Given the description of an element on the screen output the (x, y) to click on. 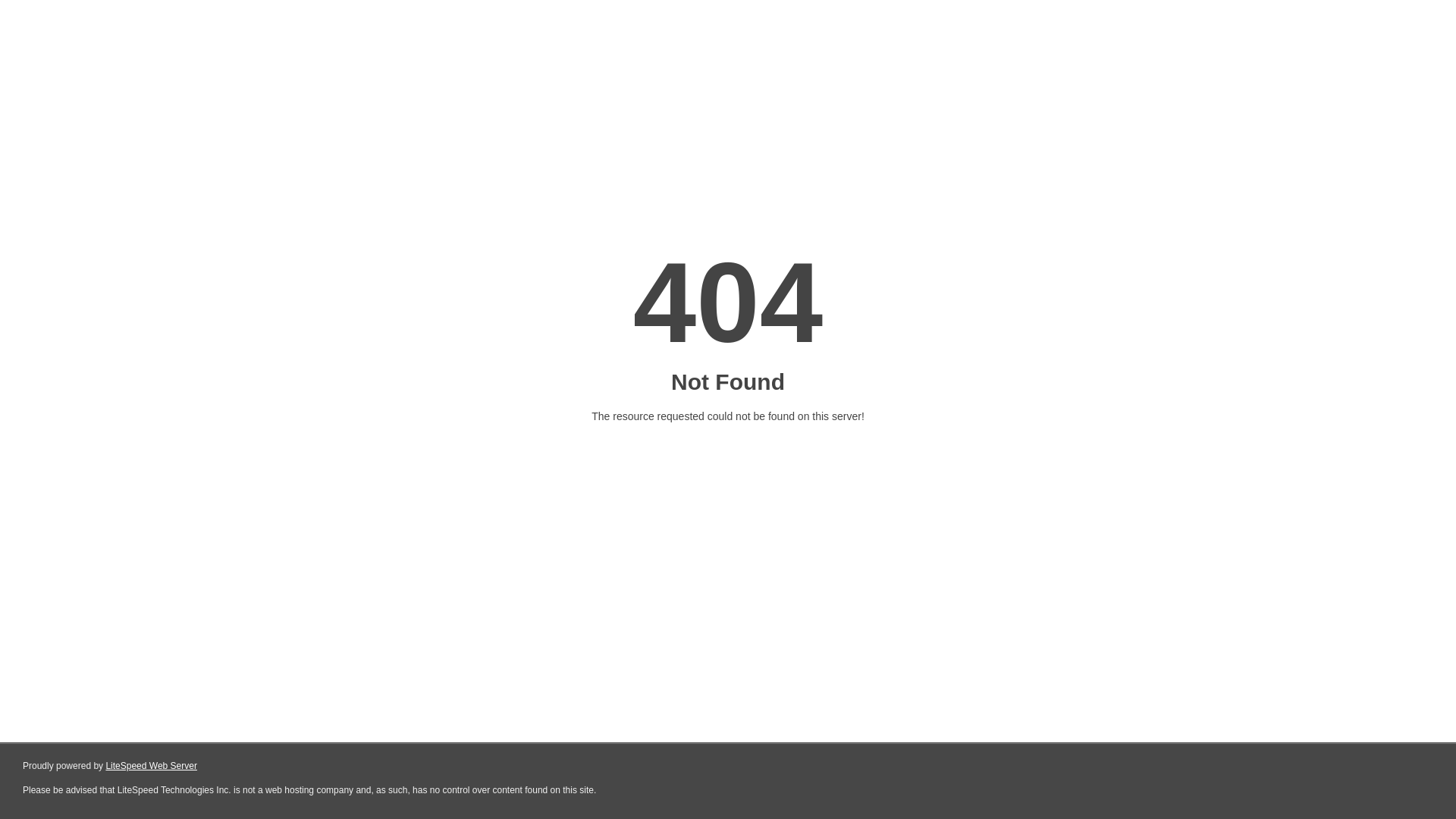
LiteSpeed Web Server Element type: text (151, 765)
